Given the description of an element on the screen output the (x, y) to click on. 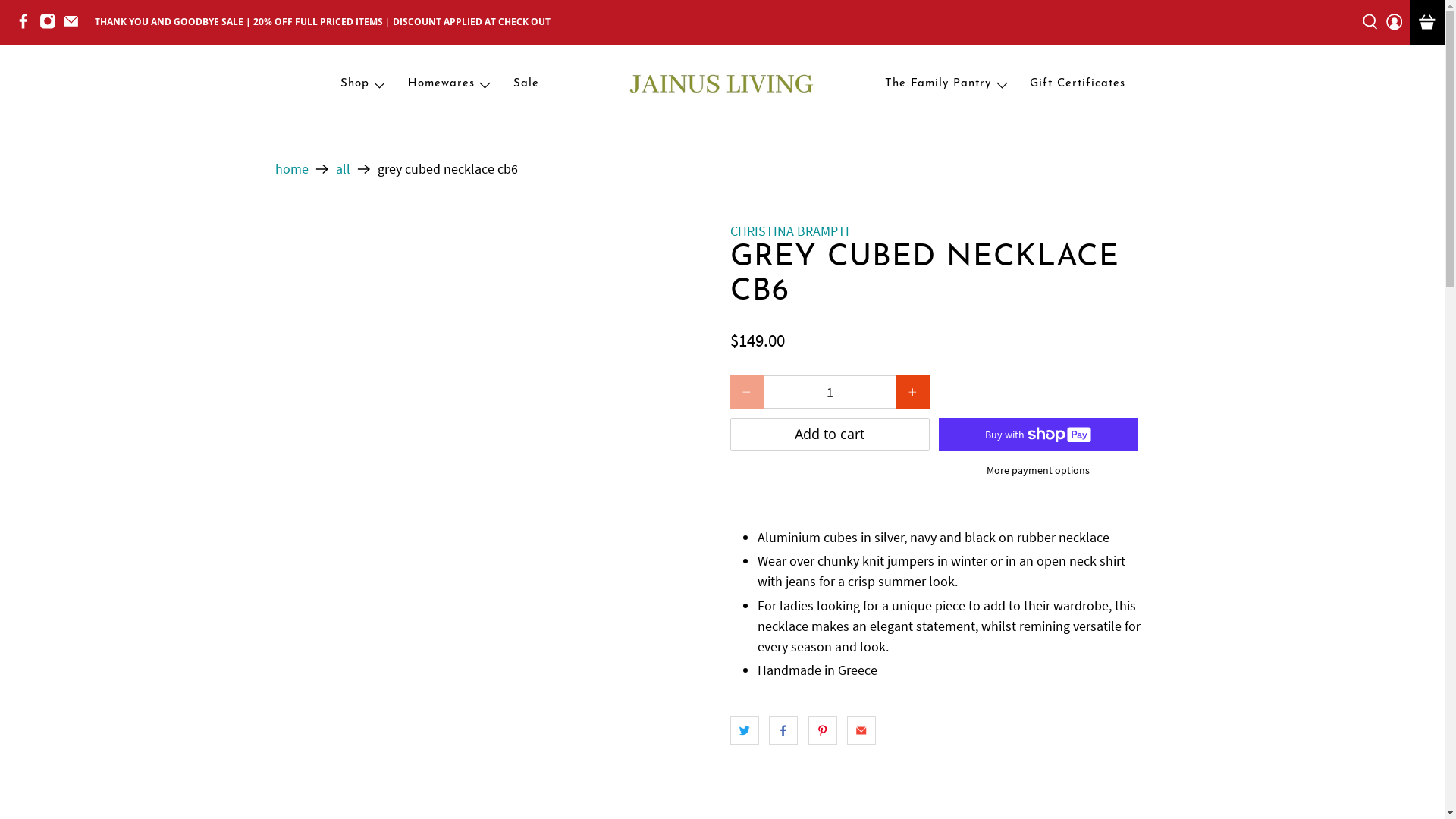
Shop Element type: text (363, 84)
Gift Certificates Element type: text (1077, 84)
Share this on Pinterest Element type: hover (822, 729)
Share this on Facebook Element type: hover (782, 729)
Sale Element type: text (525, 84)
More payment options Element type: text (1037, 474)
home Element type: text (290, 168)
Homewares Element type: text (449, 84)
Jainus on Facebook Element type: hover (27, 25)
all Element type: text (342, 168)
Share this on Twitter Element type: hover (743, 729)
Jainus Element type: hover (721, 84)
Email this to a friend Element type: hover (861, 729)
The Family Pantry Element type: text (947, 84)
Email Jainus Element type: hover (74, 25)
Add to cart Element type: text (828, 434)
CHRISTINA BRAMPTI Element type: text (788, 230)
Jainus on Instagram Element type: hover (51, 25)
